Given the description of an element on the screen output the (x, y) to click on. 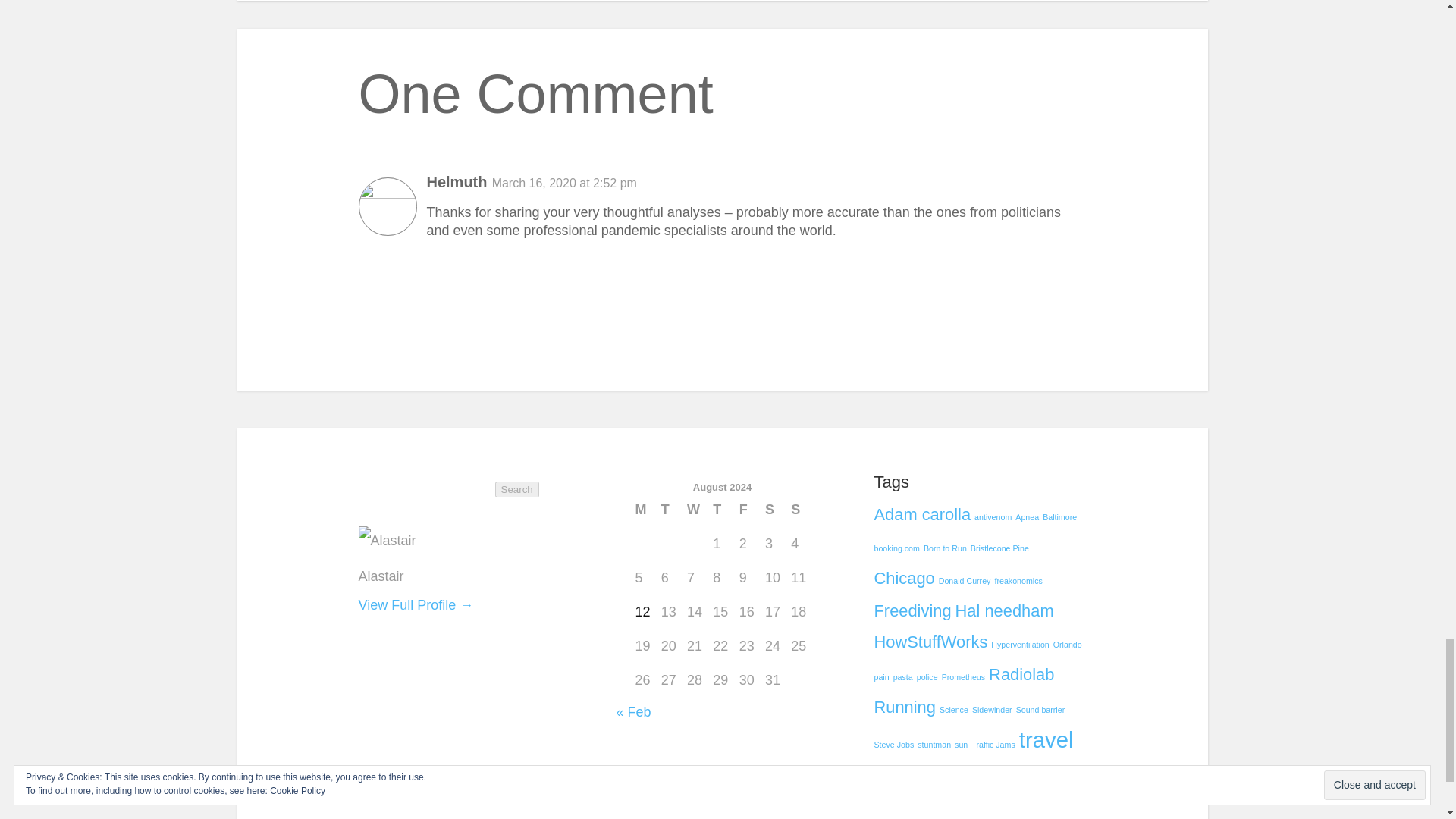
Chicago (903, 578)
freakonomics (1018, 580)
Search (516, 489)
Bristlecone Pine (1000, 547)
Alastair (380, 575)
Freediving (911, 610)
Born to Run (944, 547)
booking.com (895, 547)
Adam carolla (922, 514)
Search (516, 489)
